Given the description of an element on the screen output the (x, y) to click on. 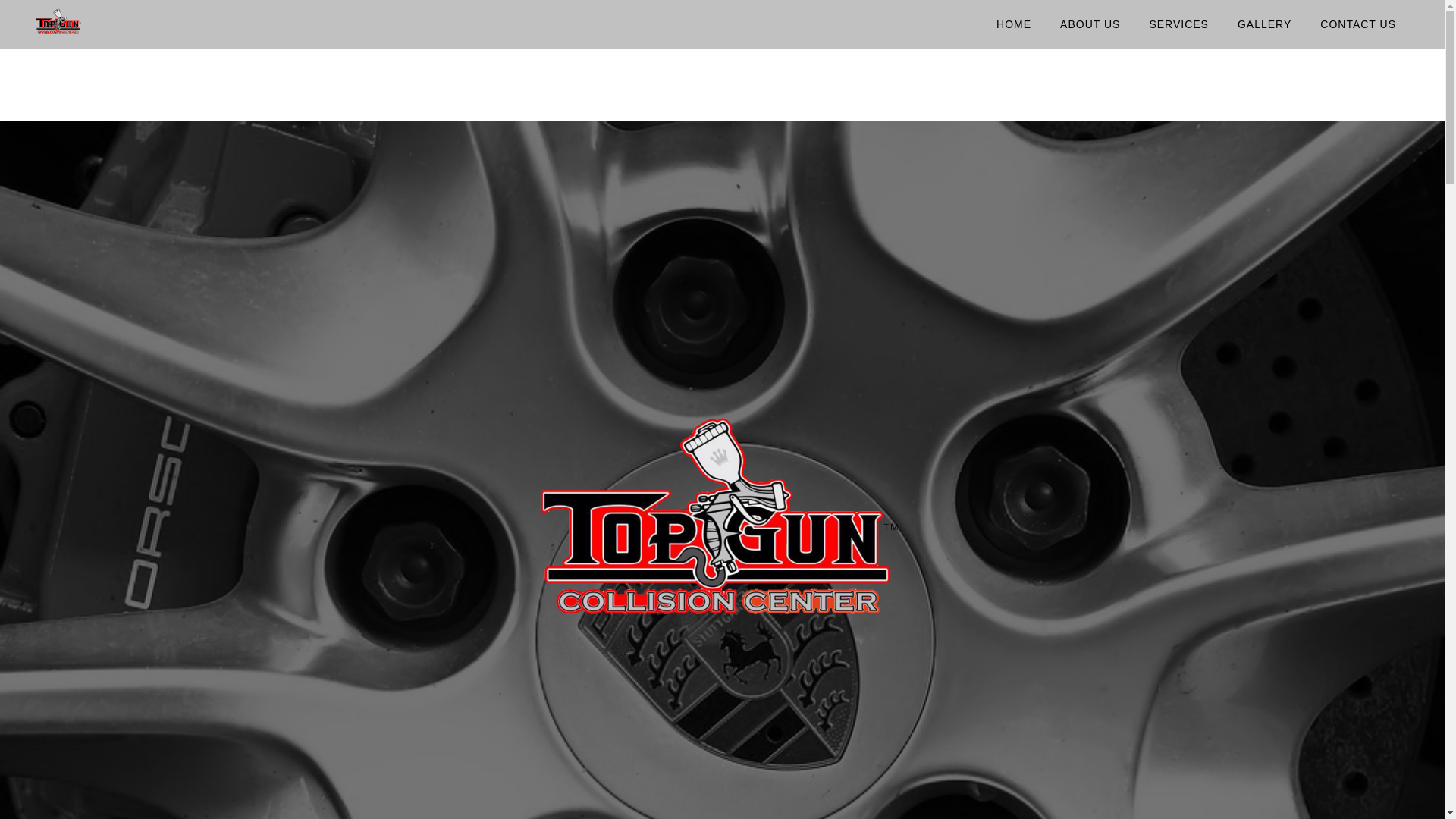
CONTACT US (1358, 24)
SERVICES (1178, 24)
HOME (1013, 24)
ABOUT US (1089, 24)
GALLERY (1264, 24)
